Given the description of an element on the screen output the (x, y) to click on. 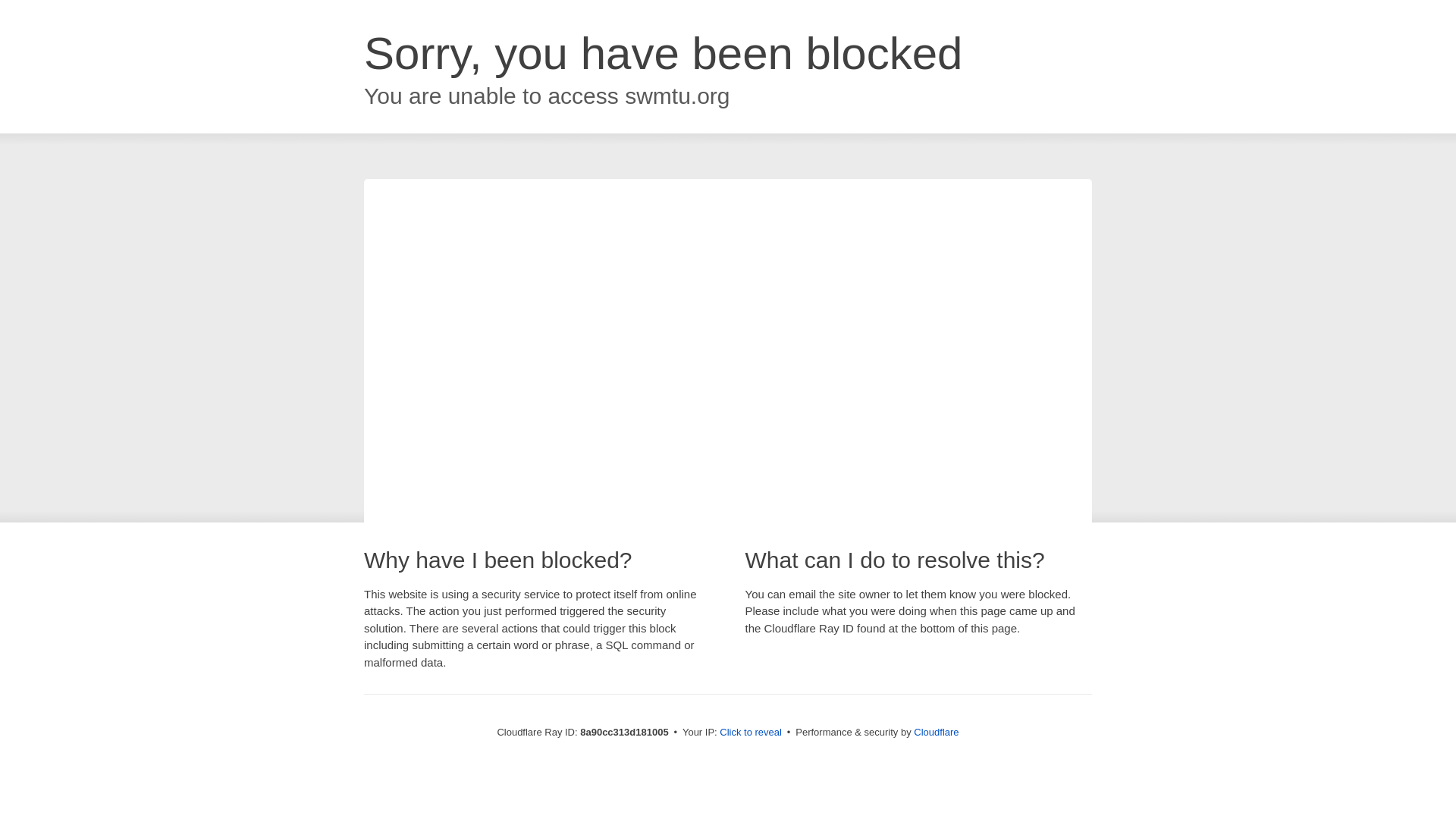
Click to reveal (750, 732)
Cloudflare (936, 731)
